Given the description of an element on the screen output the (x, y) to click on. 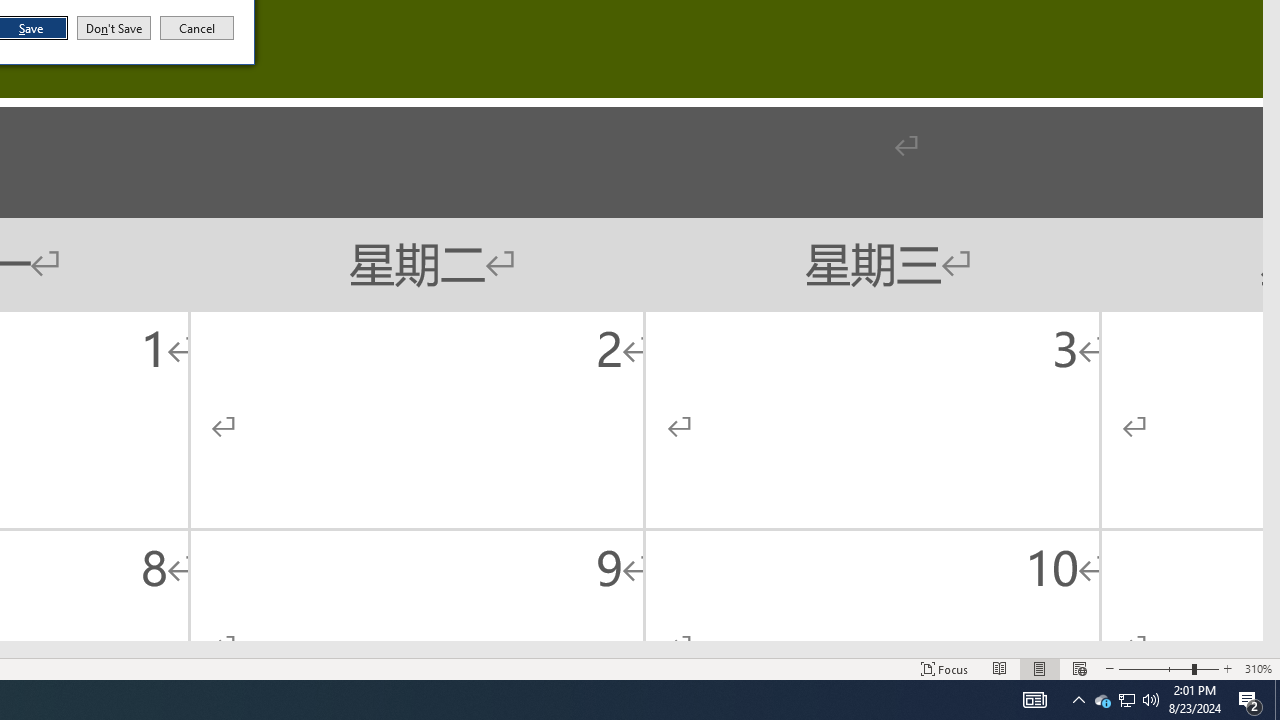
Action Center, 2 new notifications (1250, 699)
Notification Chevron (1078, 699)
AutomationID: 4105 (1034, 699)
Show desktop (1277, 699)
Cancel (197, 27)
Q2790: 100% (1102, 699)
